Given the description of an element on the screen output the (x, y) to click on. 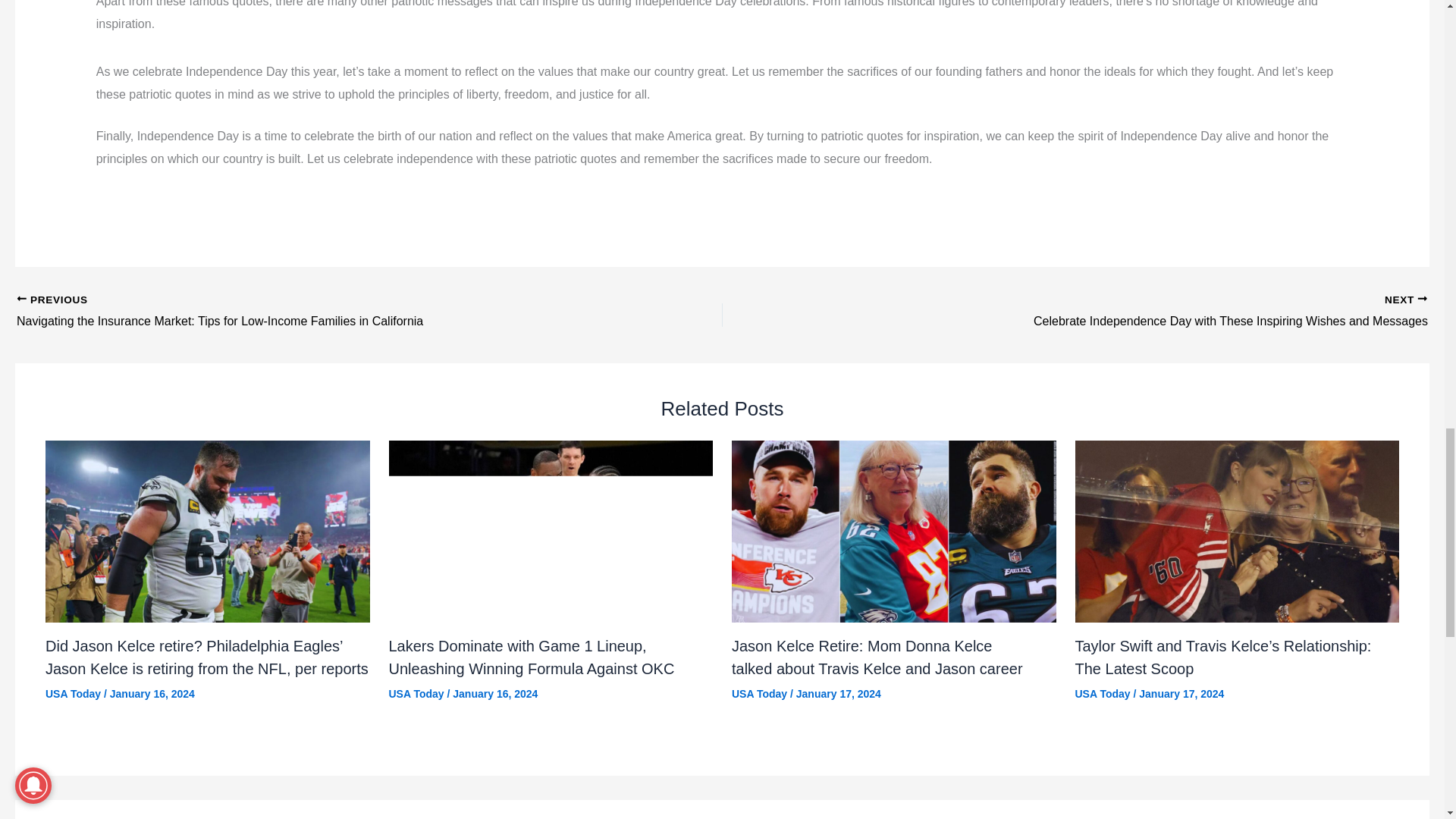
USA Today (416, 693)
USA Today (1103, 693)
USA Today (759, 693)
USA Today (72, 693)
